Given the description of an element on the screen output the (x, y) to click on. 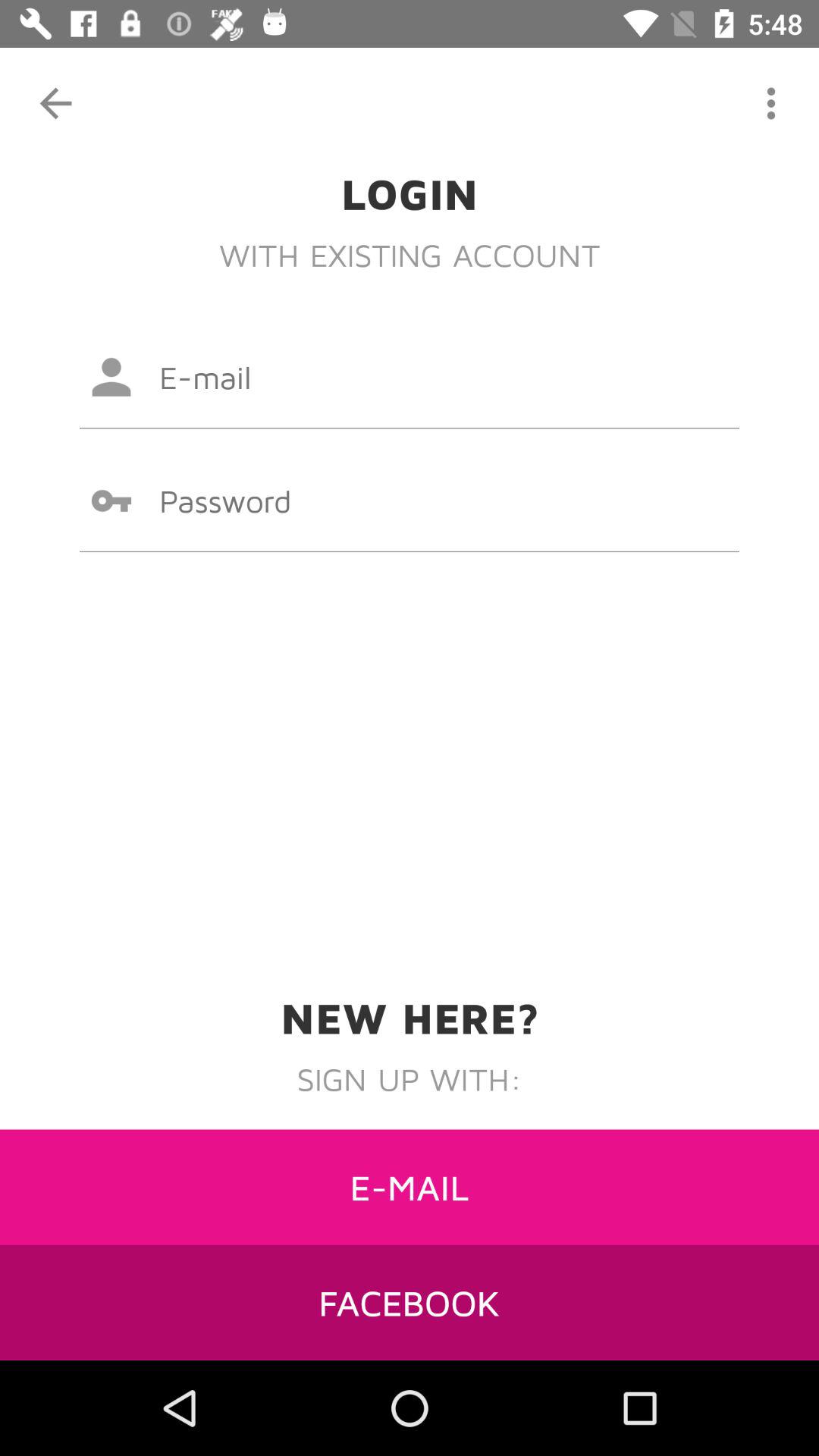
login email (409, 376)
